Given the description of an element on the screen output the (x, y) to click on. 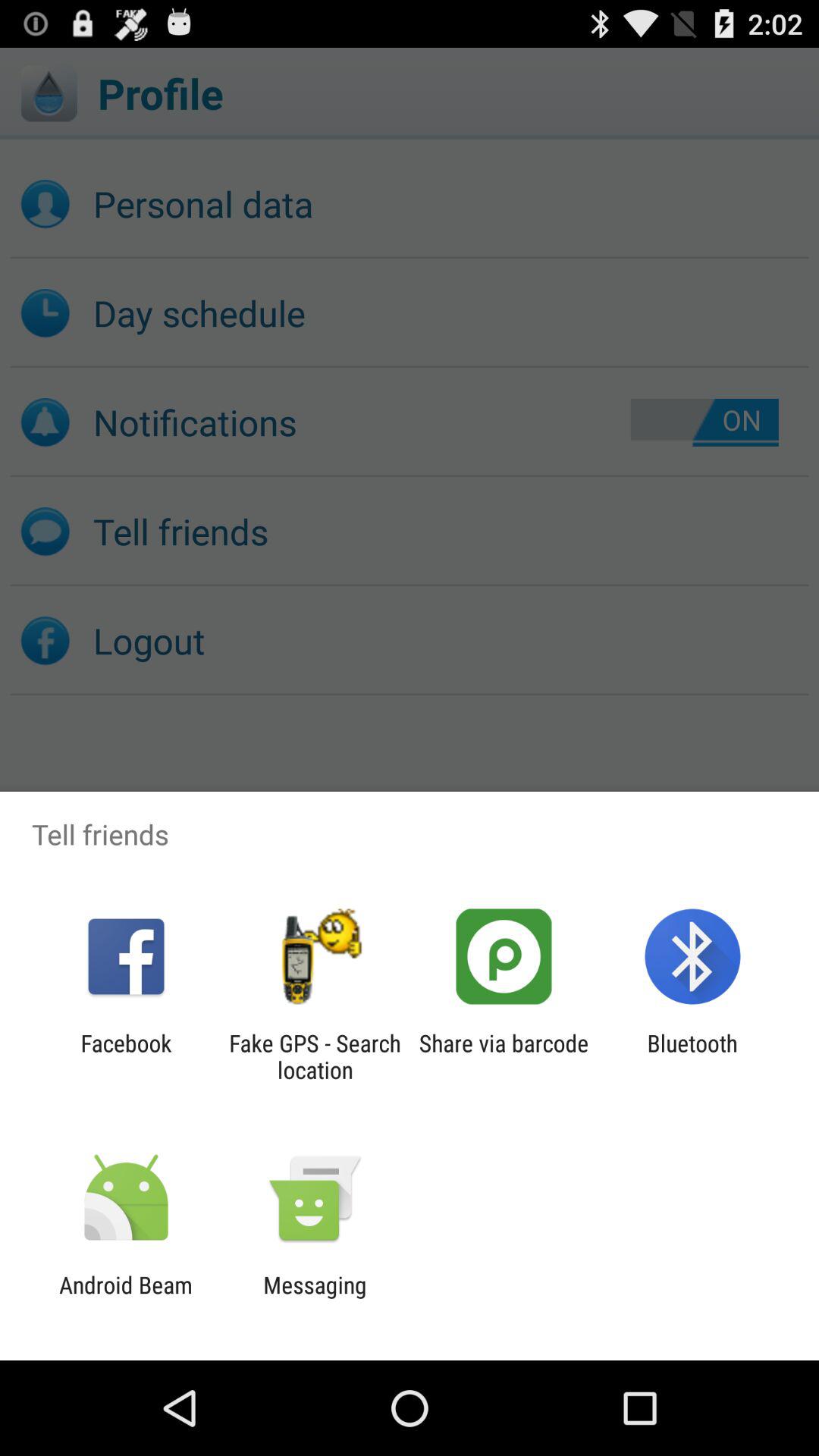
turn on the app to the left of the bluetooth app (503, 1056)
